Given the description of an element on the screen output the (x, y) to click on. 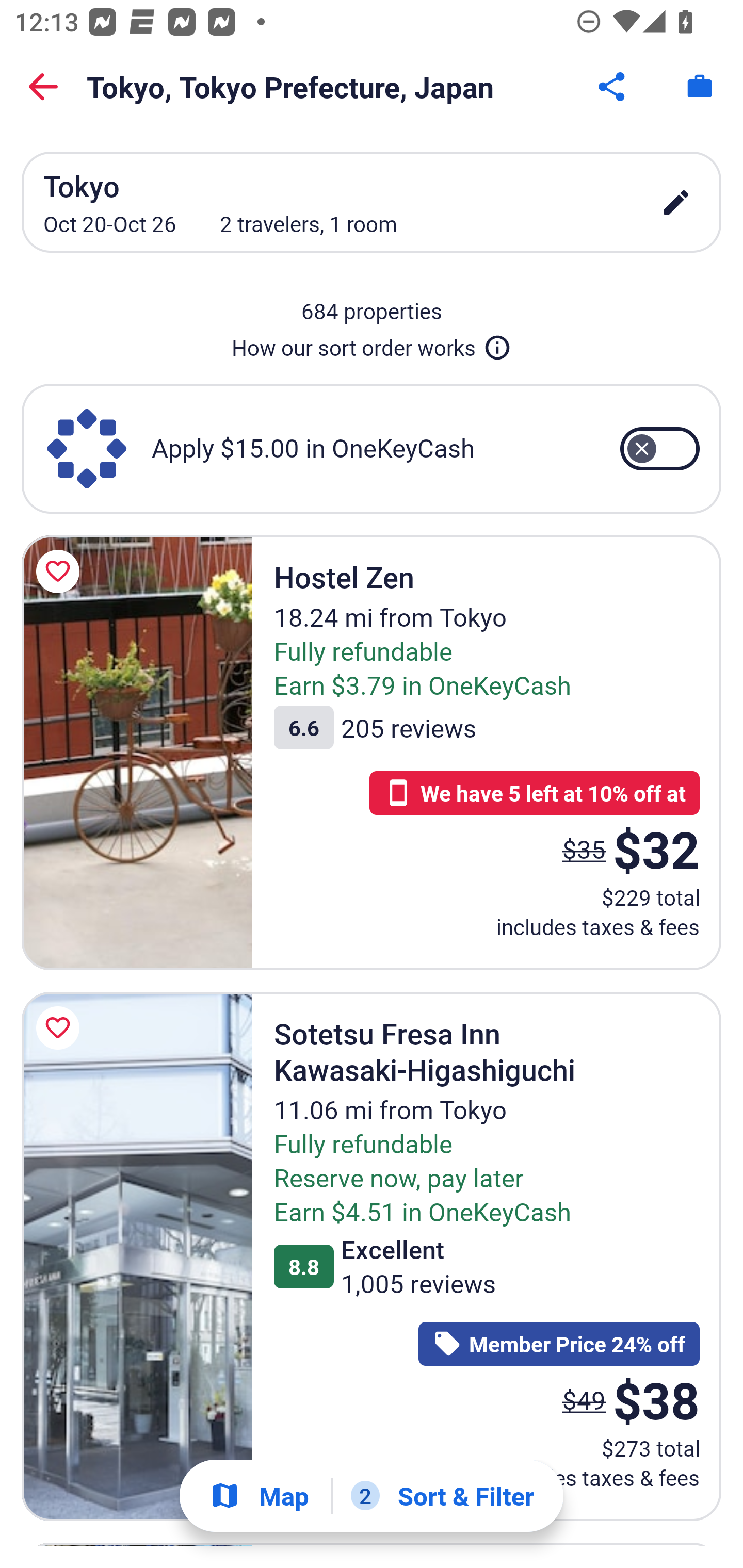
Back (43, 86)
Share Button (612, 86)
Trips. Button (699, 86)
Tokyo Oct 20-Oct 26 2 travelers, 1 room edit (371, 202)
How our sort order works (371, 344)
Save Hostel Zen to a trip (61, 571)
Hostel Zen (136, 752)
$35 The price was $35 (583, 848)
Sotetsu Fresa Inn Kawasaki-Higashiguchi (136, 1256)
$49 The price was $49 (583, 1399)
2 Sort & Filter 2 Filters applied. Filters Button (442, 1495)
Show map Map Show map Button (258, 1495)
